Given the description of an element on the screen output the (x, y) to click on. 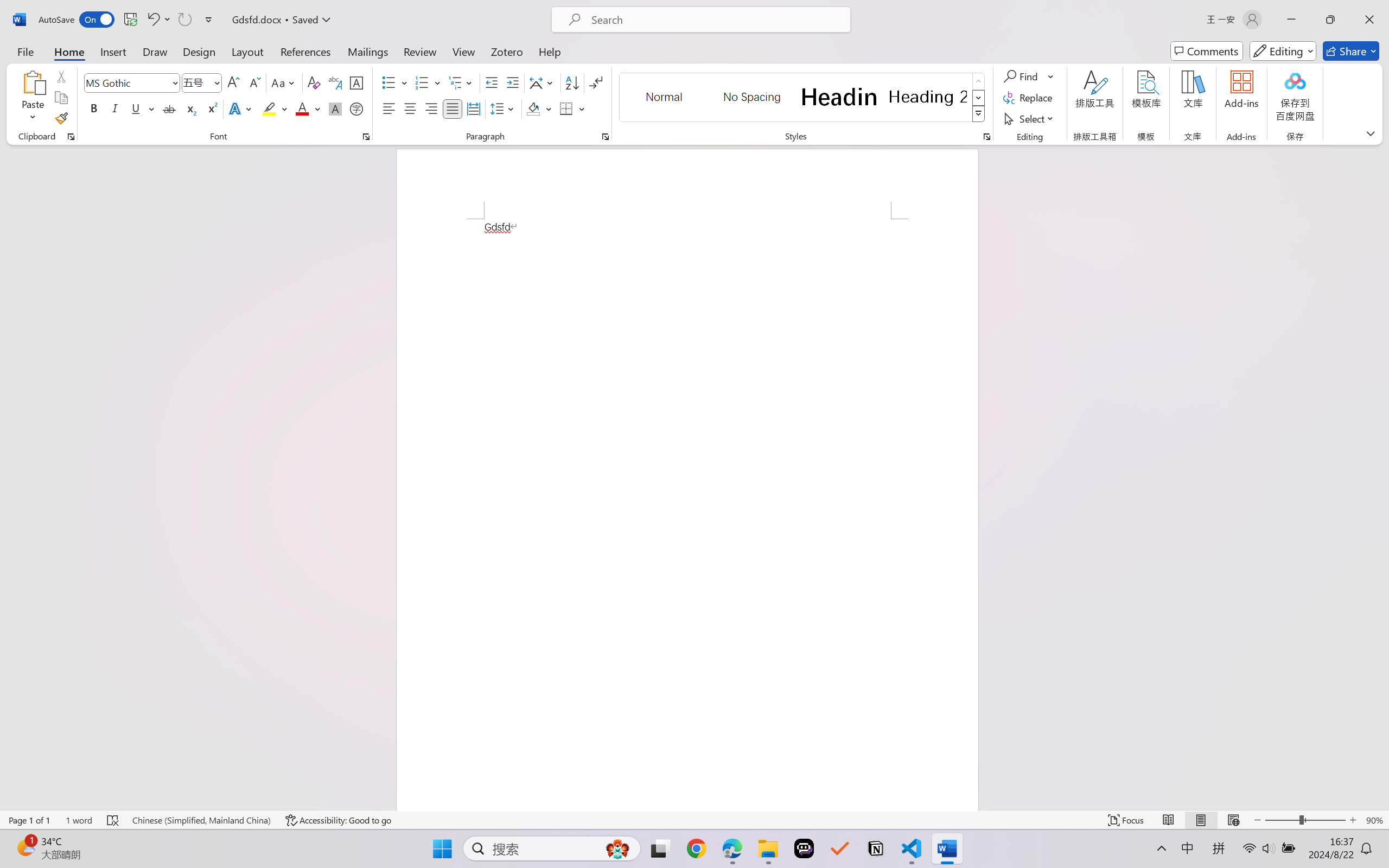
Sort... (571, 82)
Class: NetUIScrollBar (1382, 477)
